Given the description of an element on the screen output the (x, y) to click on. 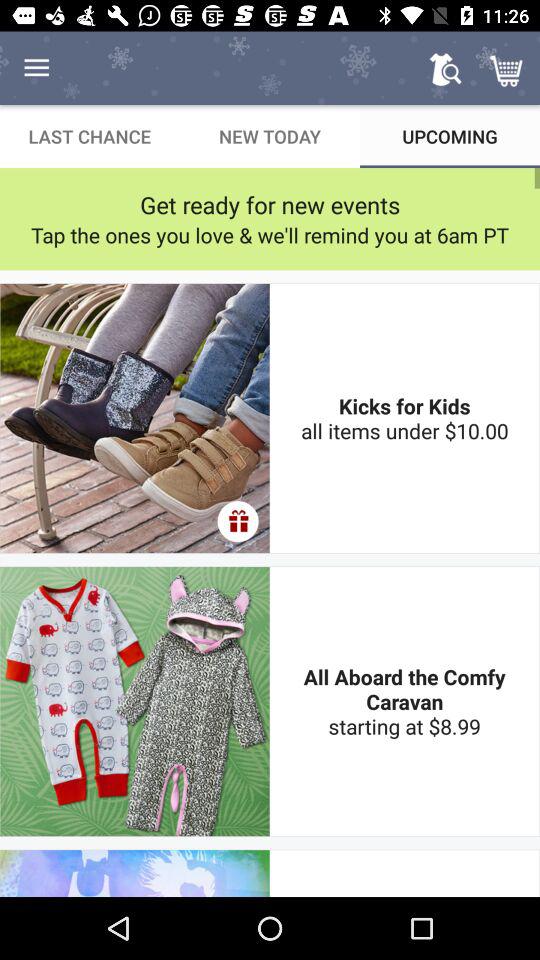
choose icon below the tap the ones item (404, 418)
